Given the description of an element on the screen output the (x, y) to click on. 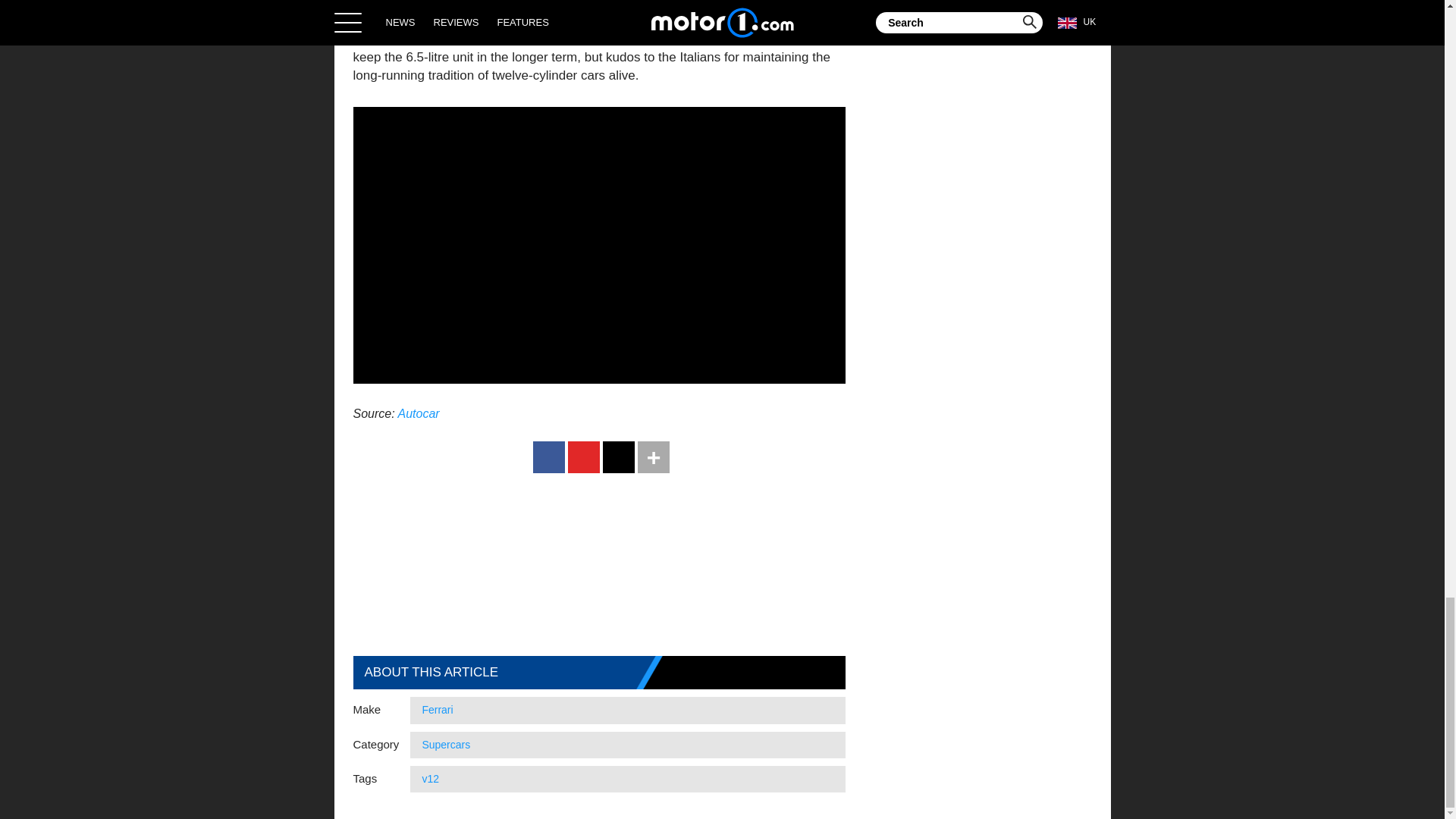
Autocar (418, 413)
